Given the description of an element on the screen output the (x, y) to click on. 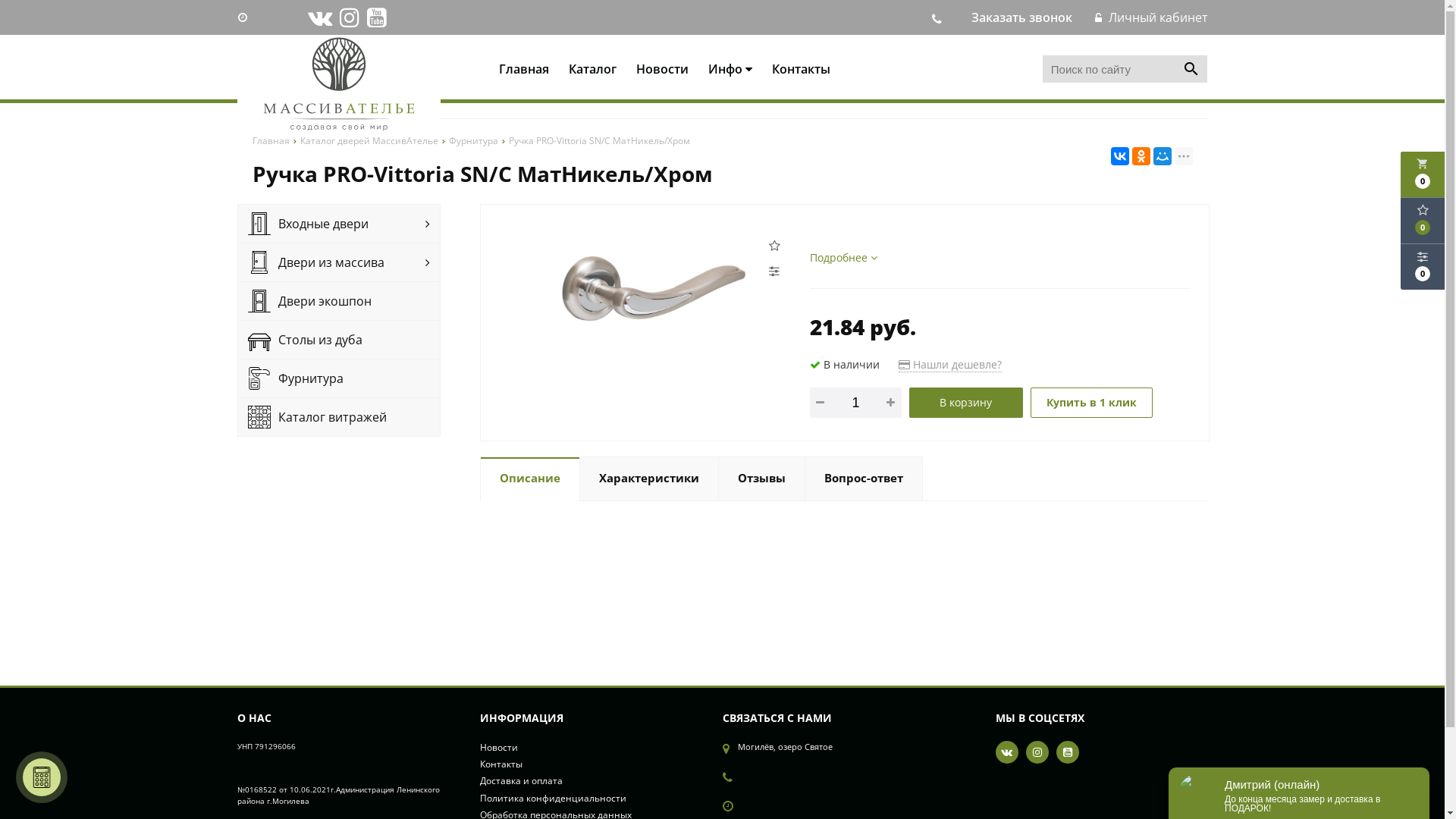
search Element type: text (1191, 68)
0 Element type: text (1422, 220)
local_grocery_store
0 Element type: text (1422, 174)
0 Element type: text (1422, 266)
